Given the description of an element on the screen output the (x, y) to click on. 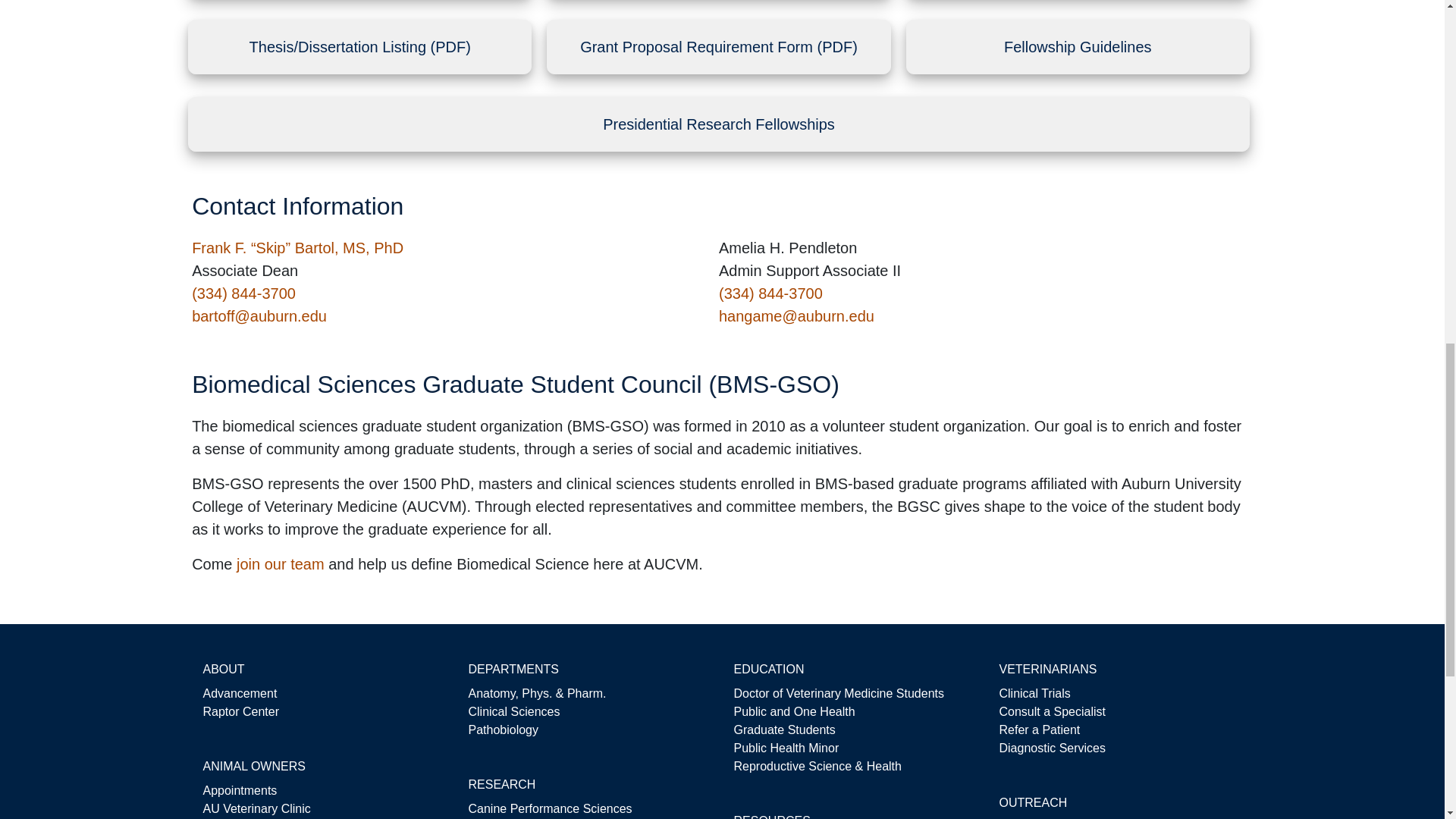
Presidential Research Fellowships (719, 123)
join our team (279, 564)
ABOUT (223, 668)
Fellowship Guidelines (1078, 46)
